Given the description of an element on the screen output the (x, y) to click on. 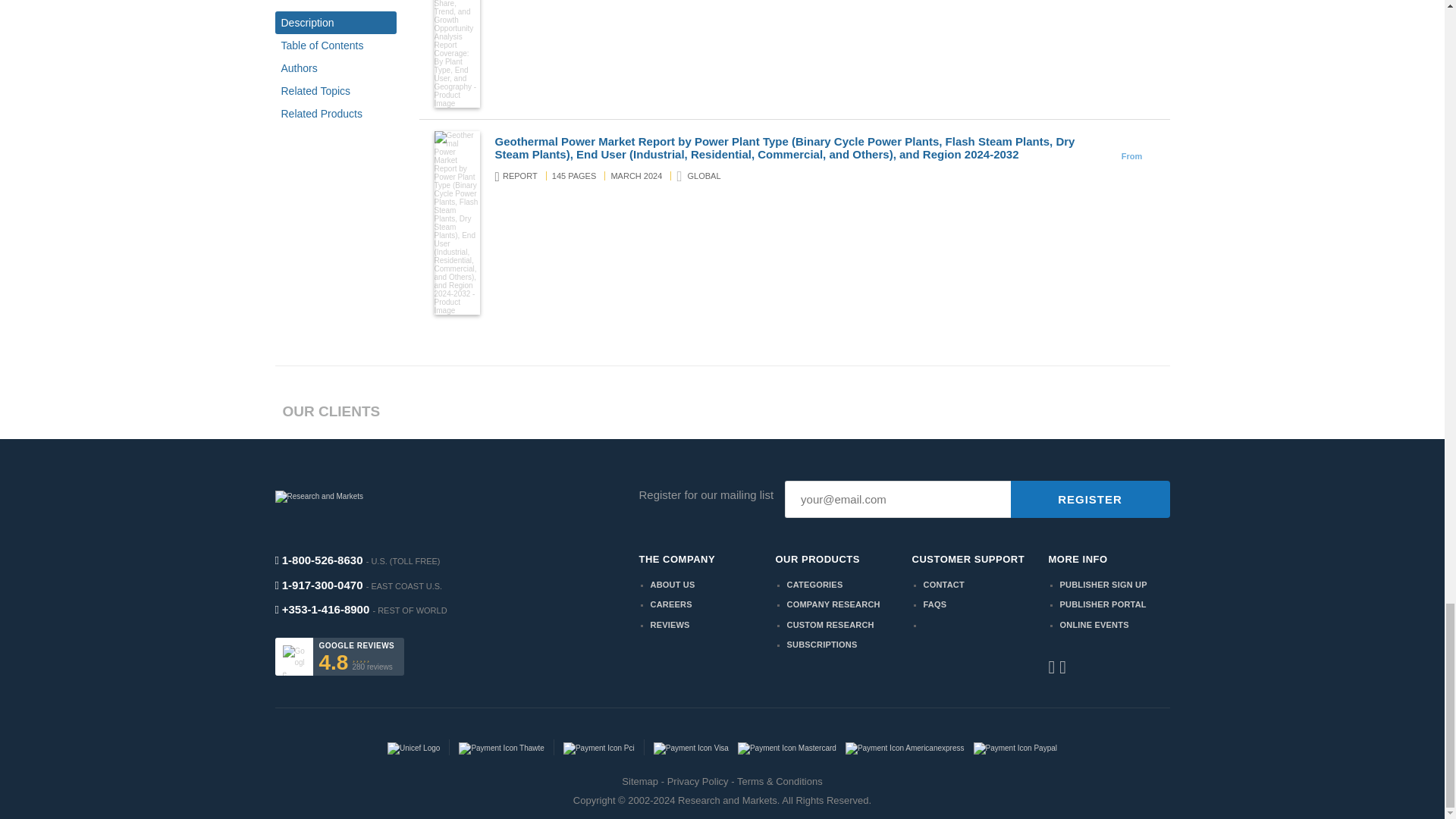
Thawte (500, 747)
MasterCard (786, 747)
PCI Compliant (598, 747)
PayPal (1016, 747)
American Express (904, 747)
VISA (691, 747)
UNICEF Partner (413, 747)
